Given the description of an element on the screen output the (x, y) to click on. 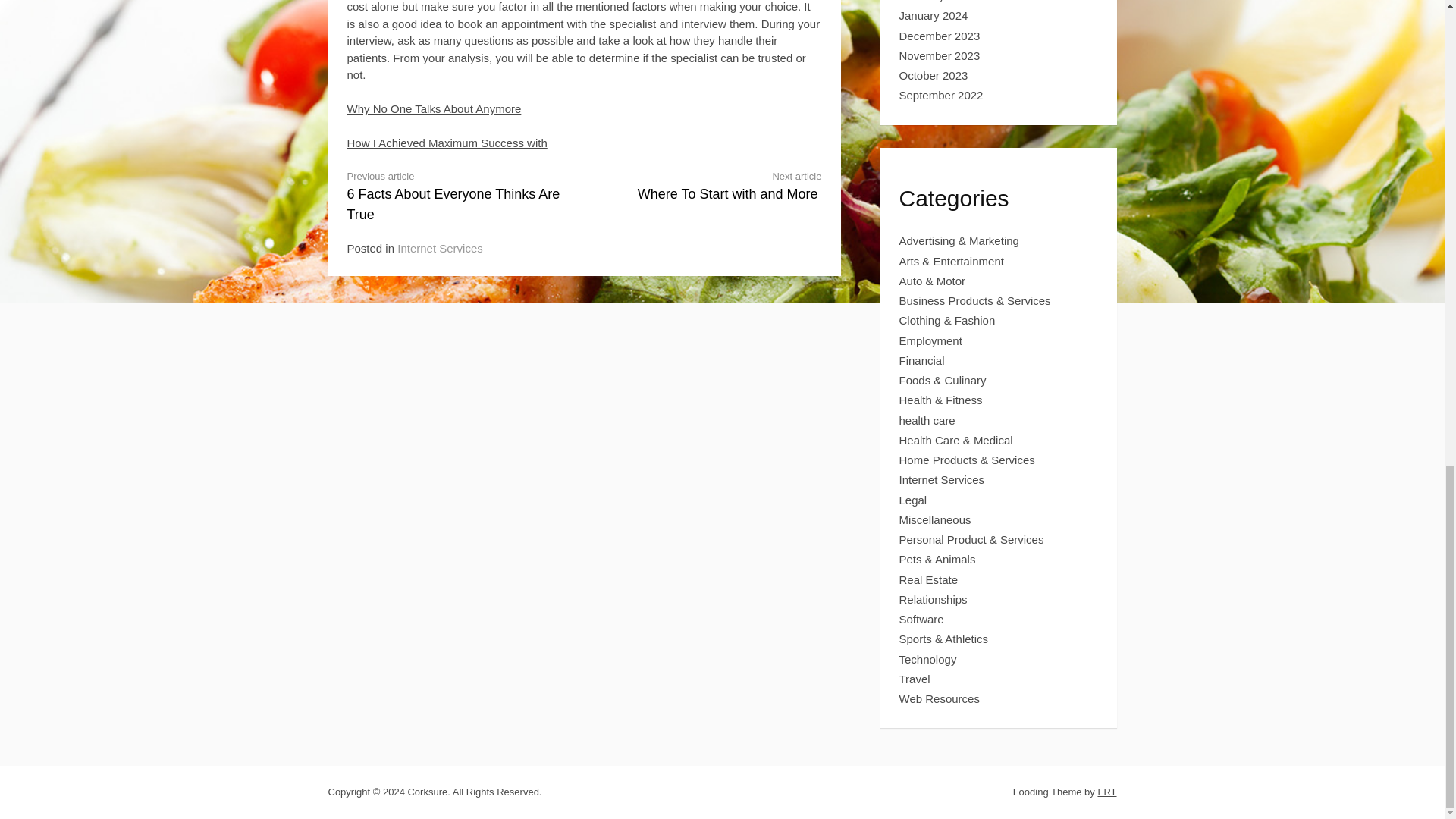
Employment (930, 340)
Why No One Talks About Anymore (715, 184)
February 2024 (434, 108)
January 2024 (936, 1)
September 2022 (933, 15)
October 2023 (941, 94)
December 2023 (933, 74)
Internet Services (939, 35)
